Given the description of an element on the screen output the (x, y) to click on. 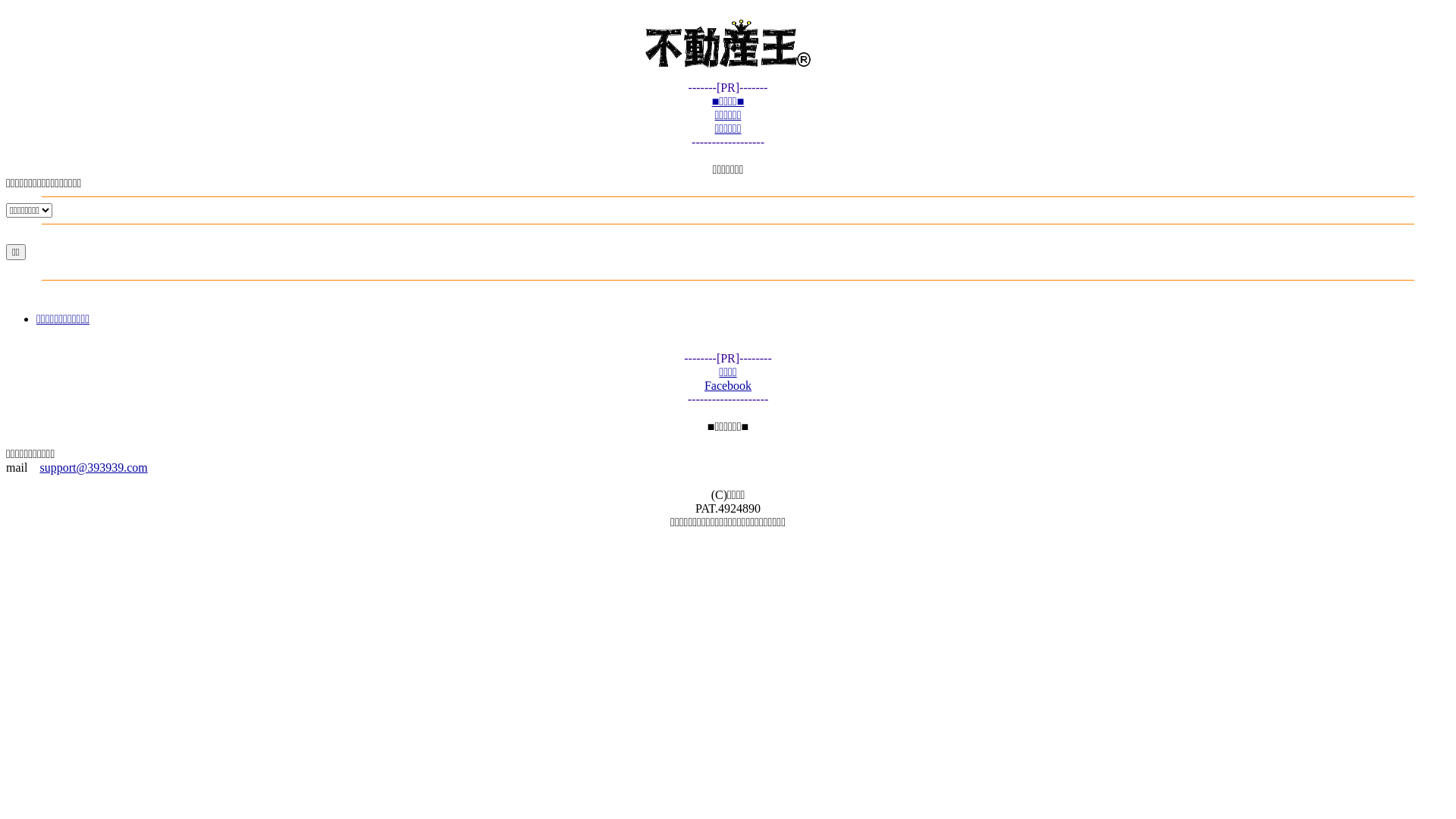
support@393939.com Element type: text (93, 467)
